Given the description of an element on the screen output the (x, y) to click on. 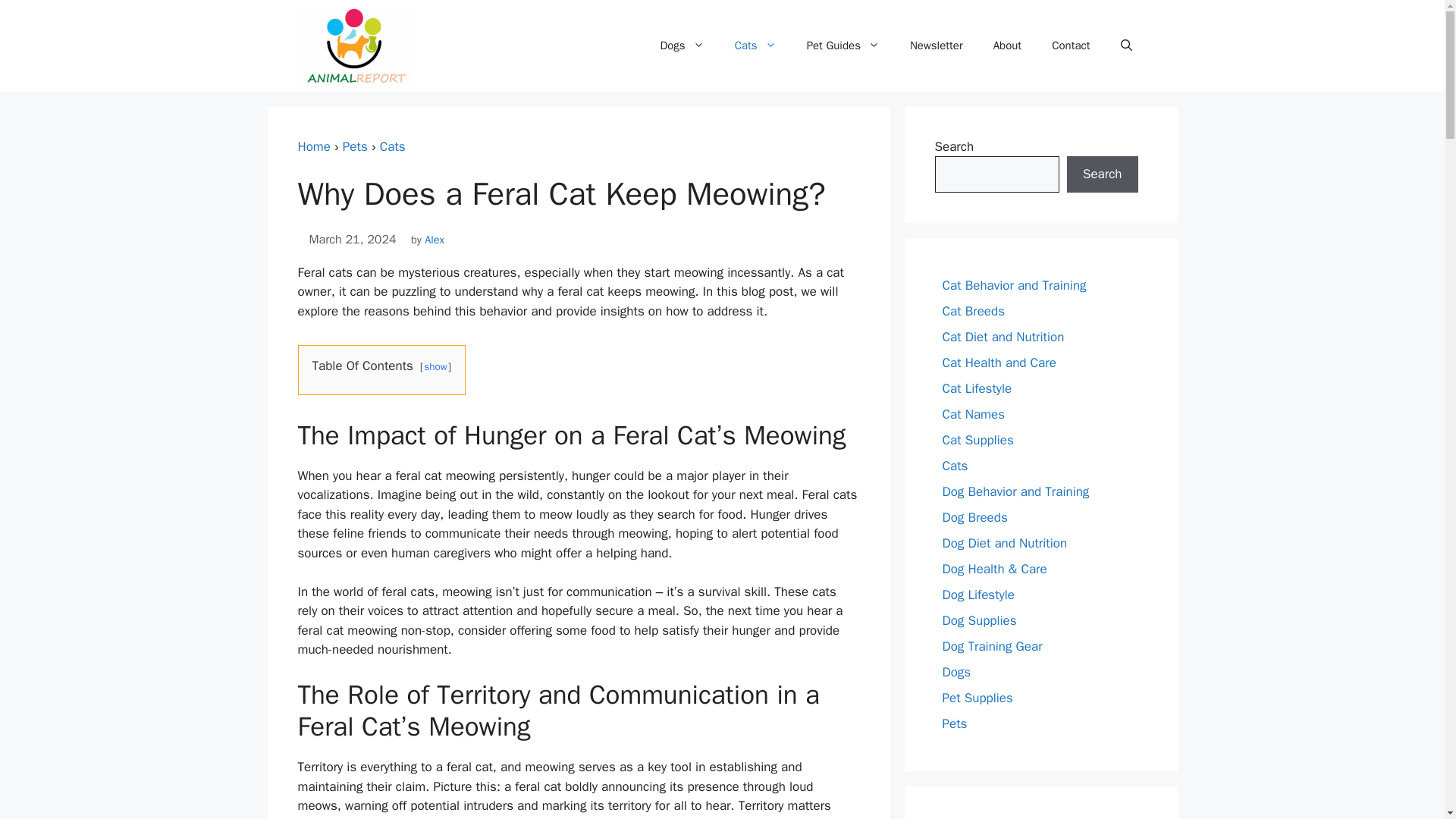
Home (313, 145)
View all posts by Alex (434, 239)
Newsletter (936, 44)
Alex (434, 239)
Cats (755, 44)
About (1007, 44)
Pets (355, 145)
Dogs (682, 44)
show (434, 366)
Contact (1070, 44)
Cats (393, 145)
Home (313, 145)
Cats (393, 145)
Pets (355, 145)
Pet Guides (843, 44)
